Given the description of an element on the screen output the (x, y) to click on. 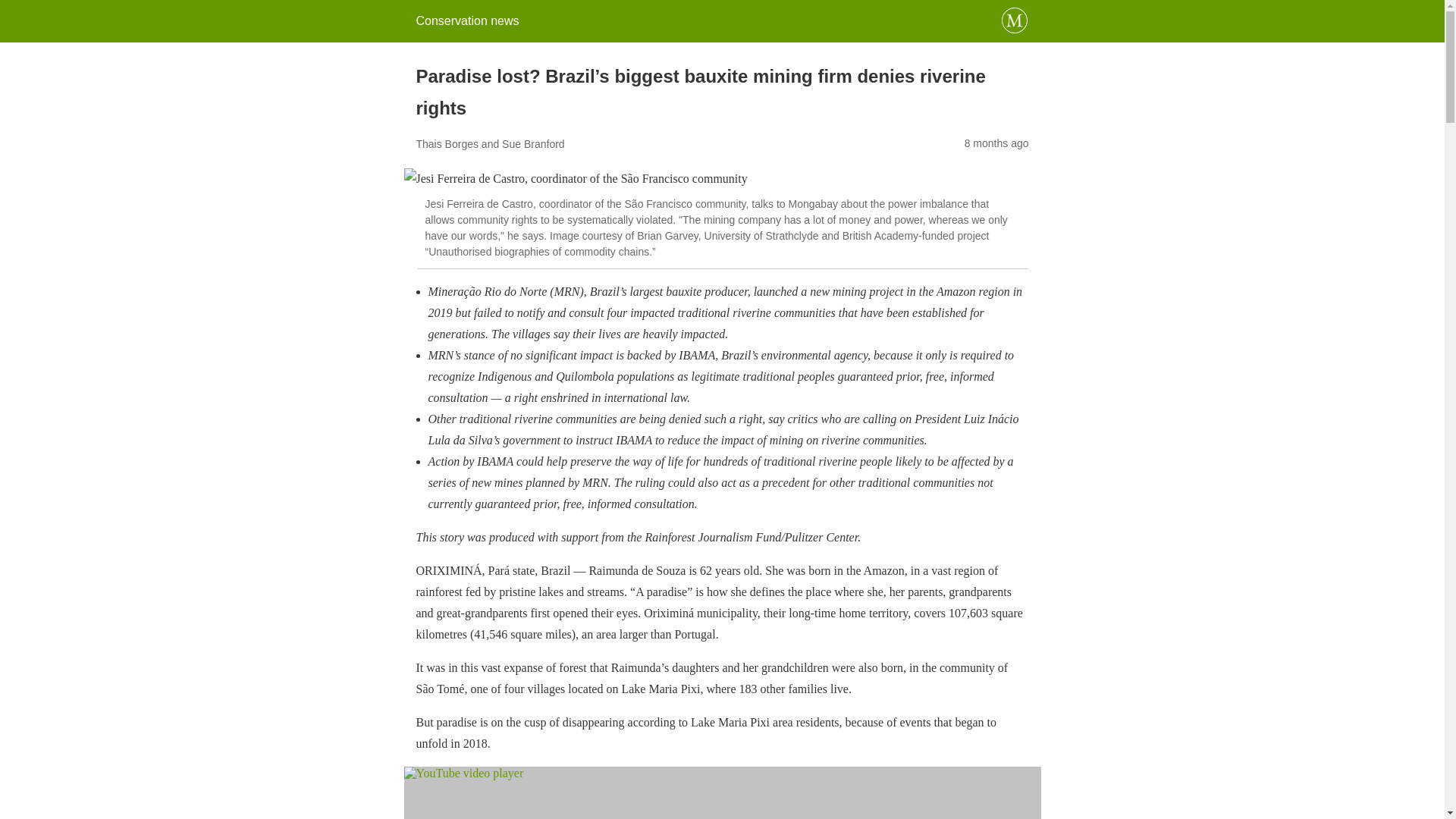
Conservation news (466, 20)
YouTube video player (722, 792)
